Given the description of an element on the screen output the (x, y) to click on. 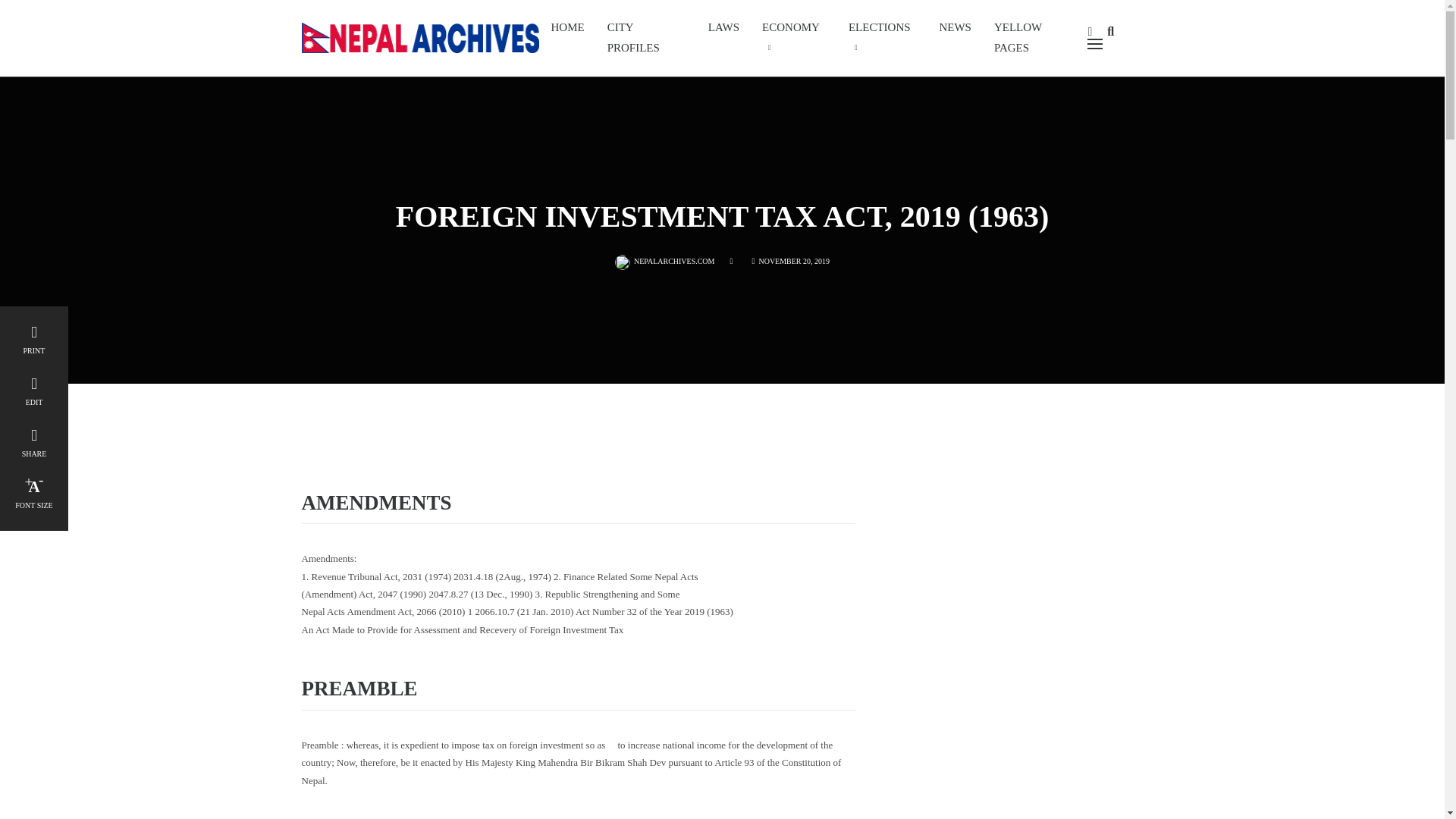
NEWS (954, 27)
ELECTIONS (882, 38)
Nepal Archives (420, 36)
CITY PROFILES (646, 38)
Profile of Rural and Urban Municipalities (646, 38)
LAWS (724, 27)
HOME (566, 27)
ECONOMY (794, 38)
YELLOW PAGES (1034, 38)
Yellow Pages (1034, 38)
